Given the description of an element on the screen output the (x, y) to click on. 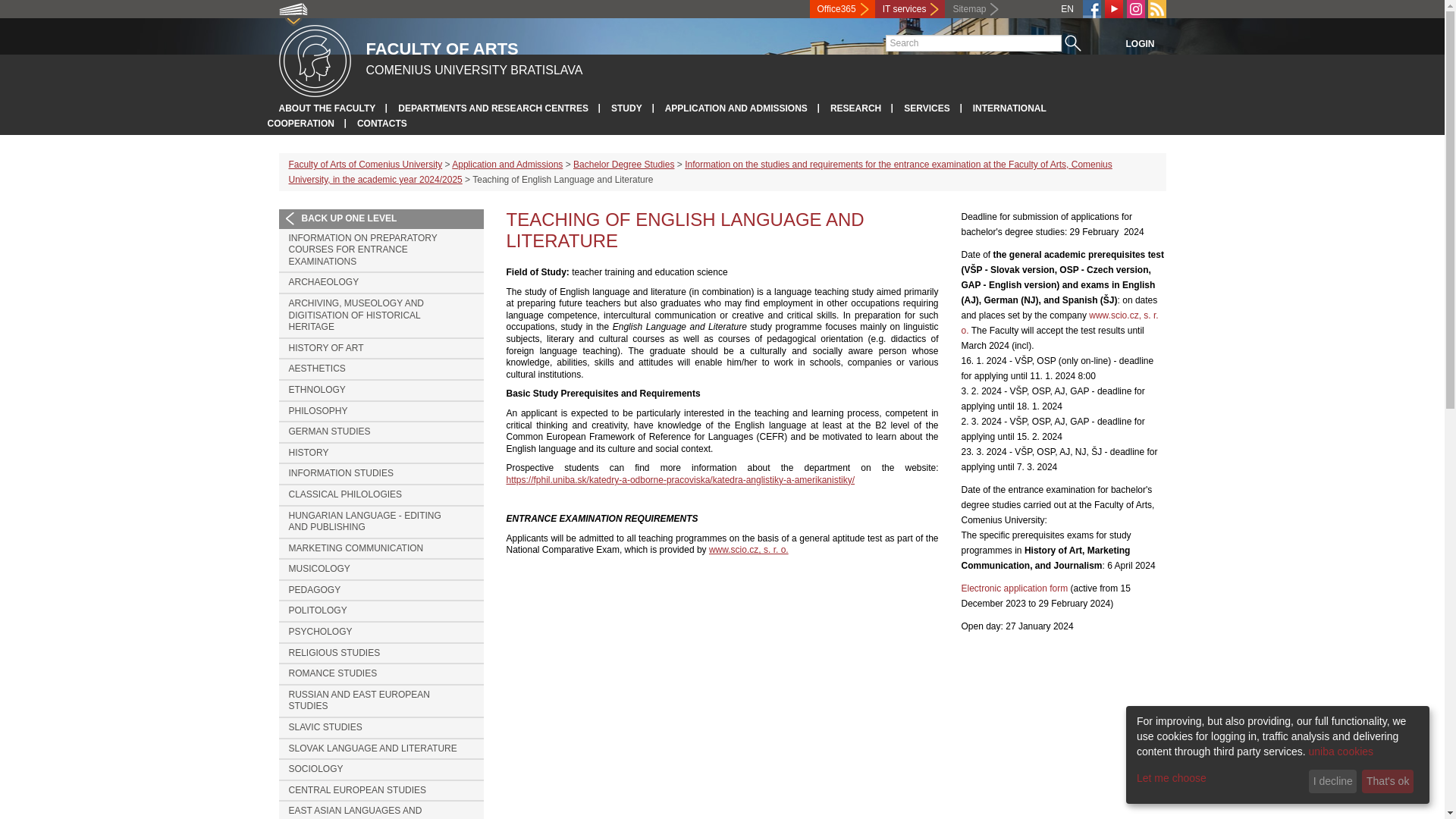
IT services (909, 9)
RSS (1157, 9)
Faculty of Arts of Comenius University (365, 163)
List of faculties (293, 12)
Instagram (1135, 9)
Office365 (842, 9)
INFORMATION ON PREPARATORY COURSES FOR ENTRANCE EXAMINATIONS (381, 250)
Sitemap (974, 9)
Application and Admissions (506, 163)
INTERNATIONAL COOPERATION (655, 115)
